Given the description of an element on the screen output the (x, y) to click on. 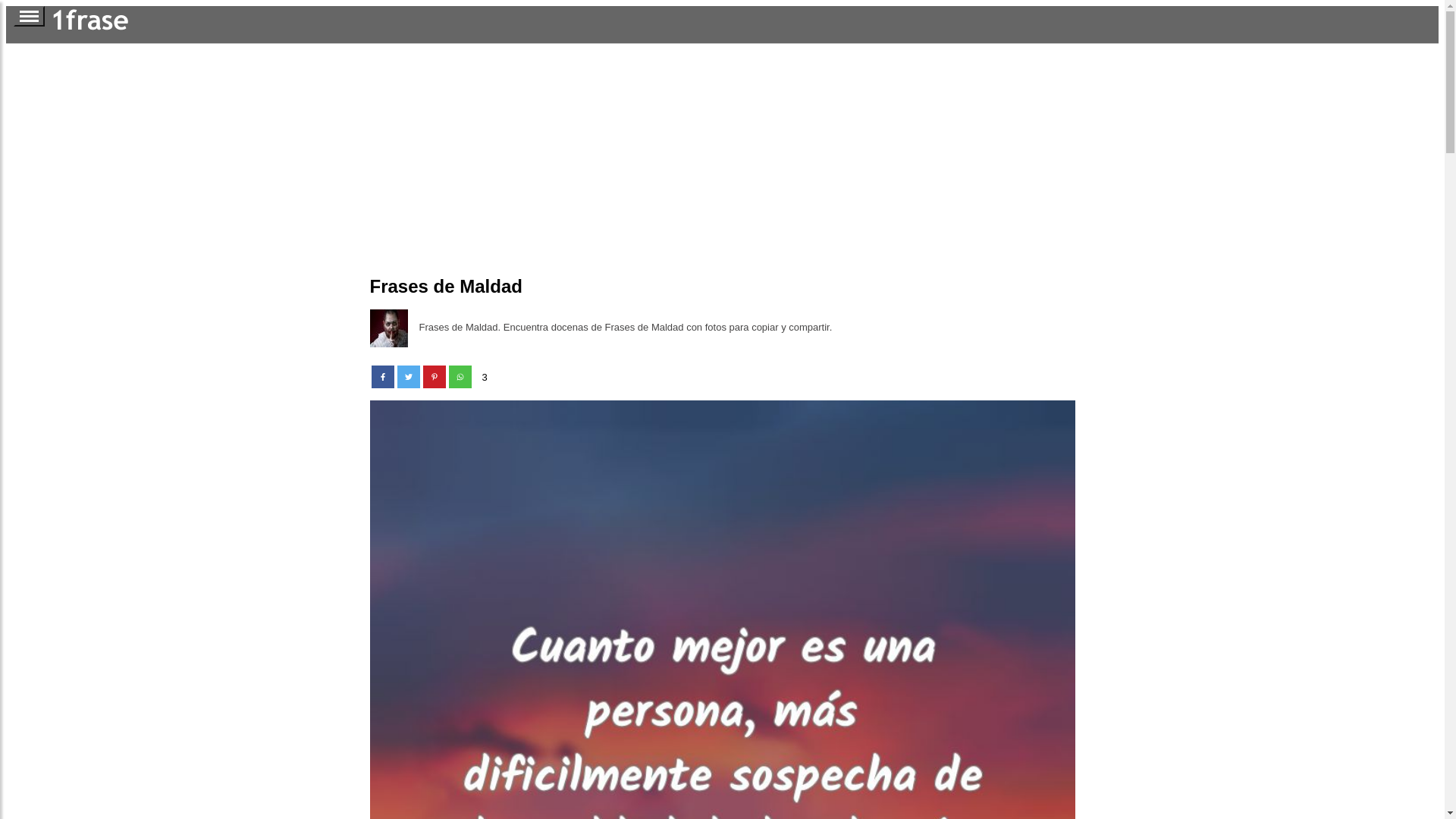
Advertisement Element type: hover (721, 157)
menu Element type: hover (28, 16)
Frases de Maldad Element type: hover (388, 328)
1Frase Element type: hover (123, 20)
